Given the description of an element on the screen output the (x, y) to click on. 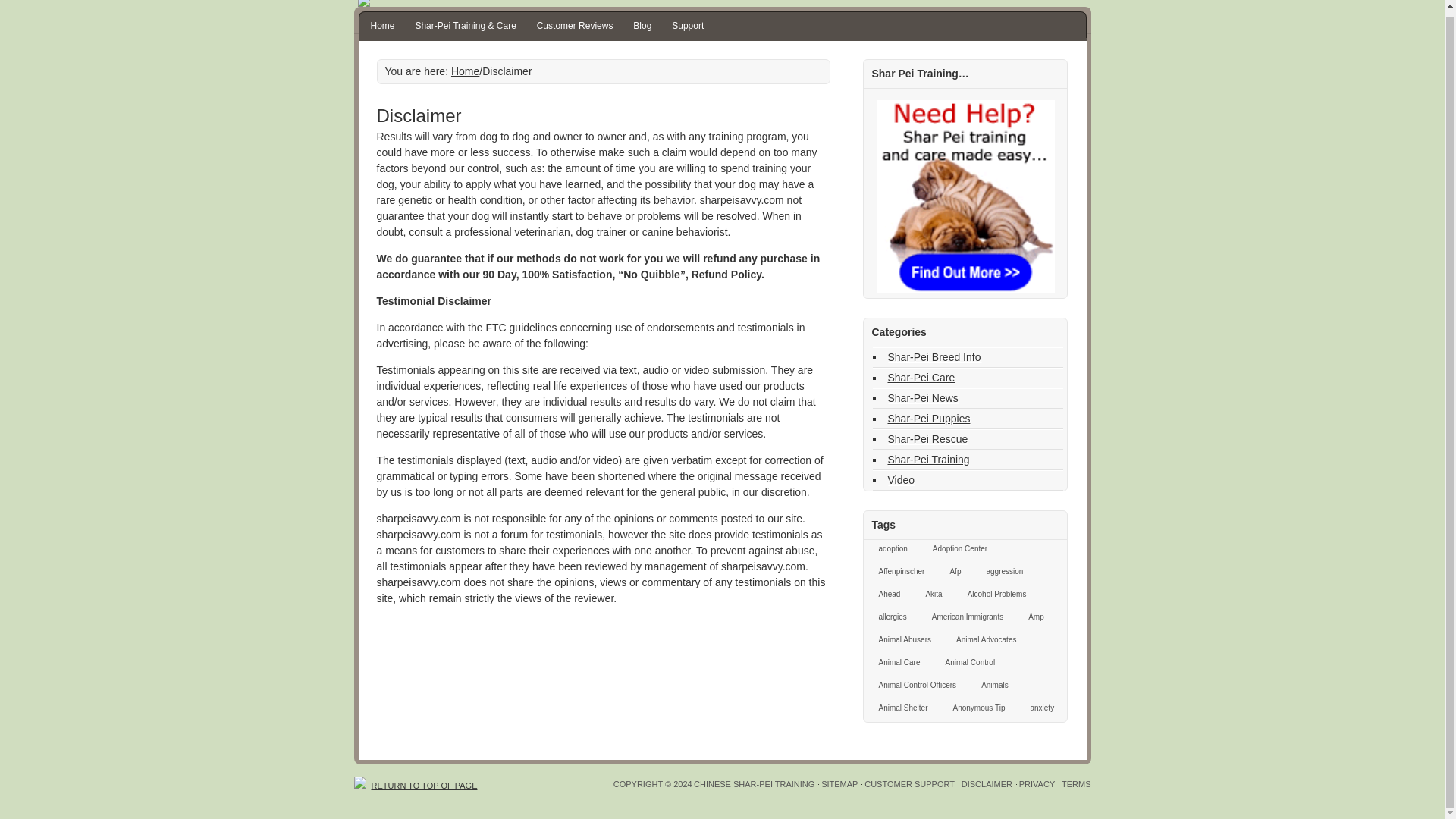
Afp (950, 572)
Go to Shar Pei Savvy. (465, 70)
anxiety (1037, 709)
Ahead (884, 595)
adoption (887, 549)
RETURN TO TOP OF PAGE (415, 778)
Animal Control (966, 663)
Akita (928, 595)
Customer Reviews (574, 26)
Animal Advocates (982, 640)
RETURN TO TOP OF PAGE (415, 778)
Affenpinscher (896, 572)
Animal Care (894, 663)
Anonymous Tip (975, 709)
aggression (999, 572)
